Given the description of an element on the screen output the (x, y) to click on. 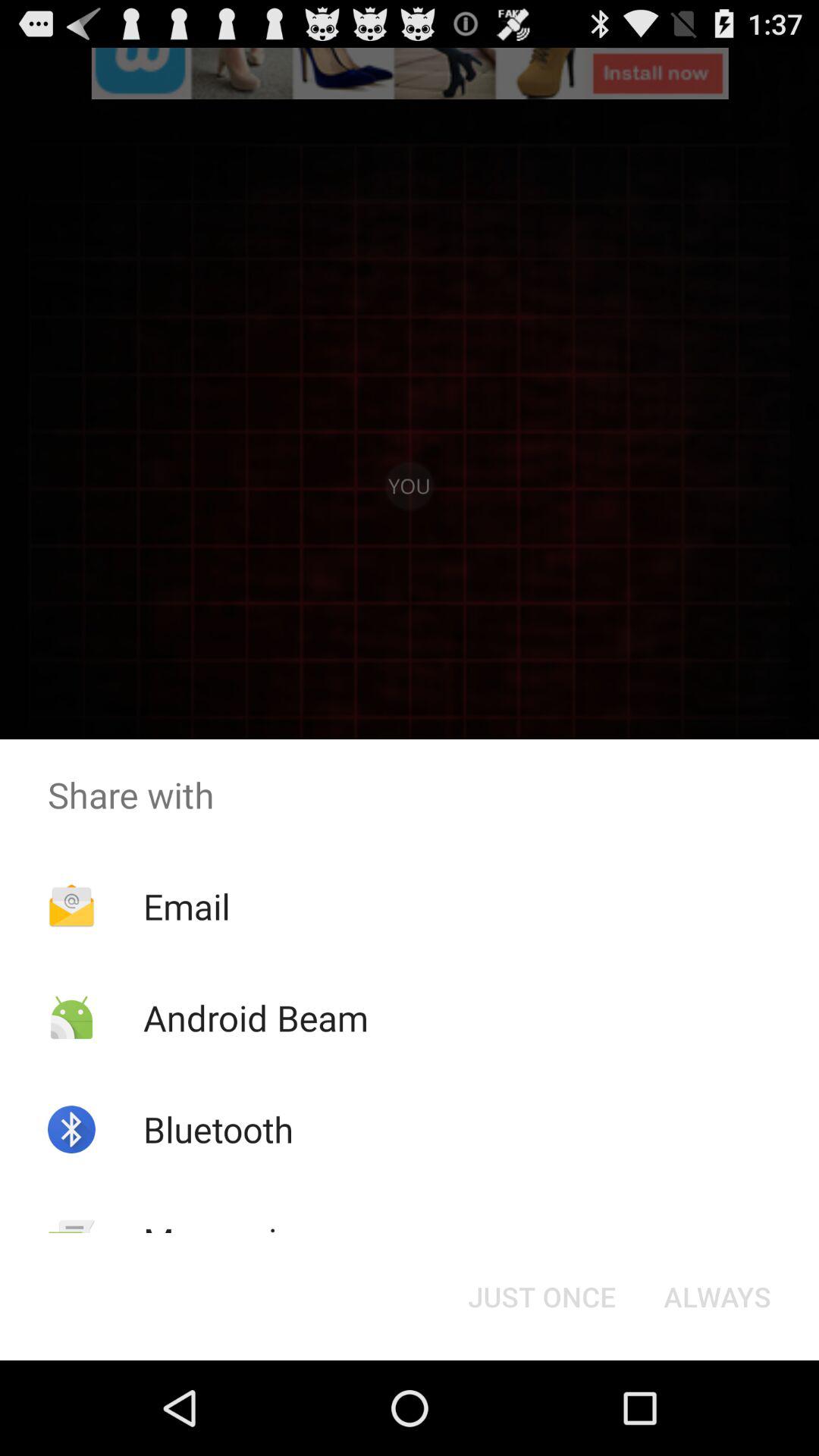
click android beam app (255, 1017)
